Given the description of an element on the screen output the (x, y) to click on. 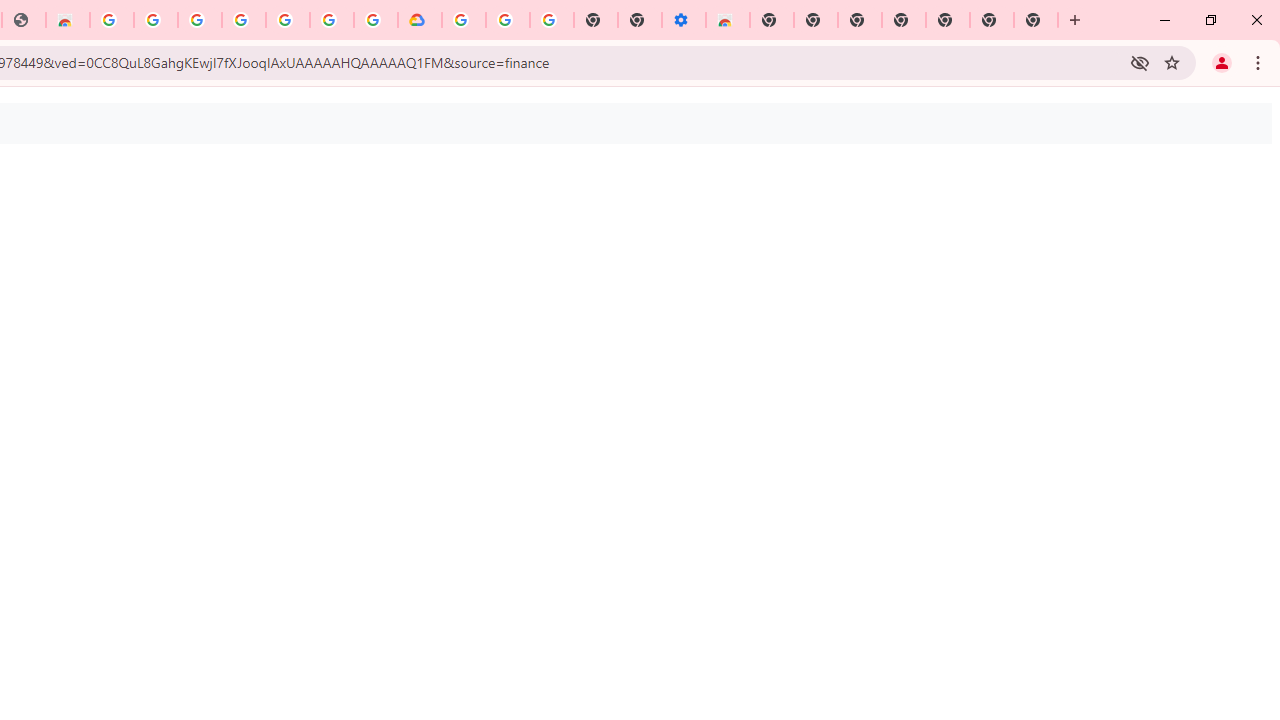
Sign in - Google Accounts (463, 20)
Chrome Web Store - Accessibility extensions (728, 20)
Sign in - Google Accounts (331, 20)
